Given the description of an element on the screen output the (x, y) to click on. 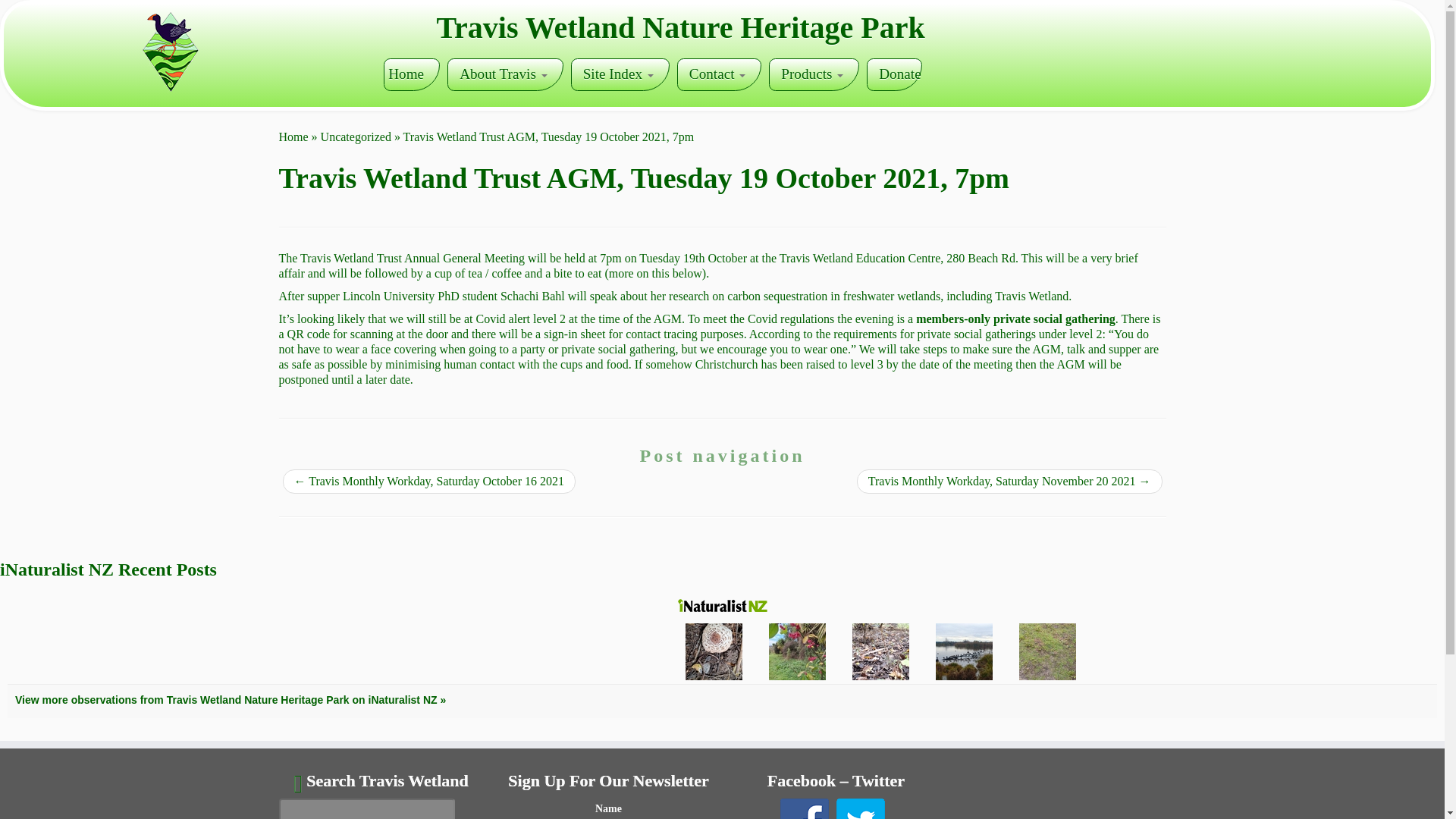
Home (411, 74)
Travis Wetland (293, 136)
Follow Us on Twitter (859, 808)
Uncategorized (355, 136)
Follow Us on Facebook (803, 808)
About Travis (504, 74)
